Given the description of an element on the screen output the (x, y) to click on. 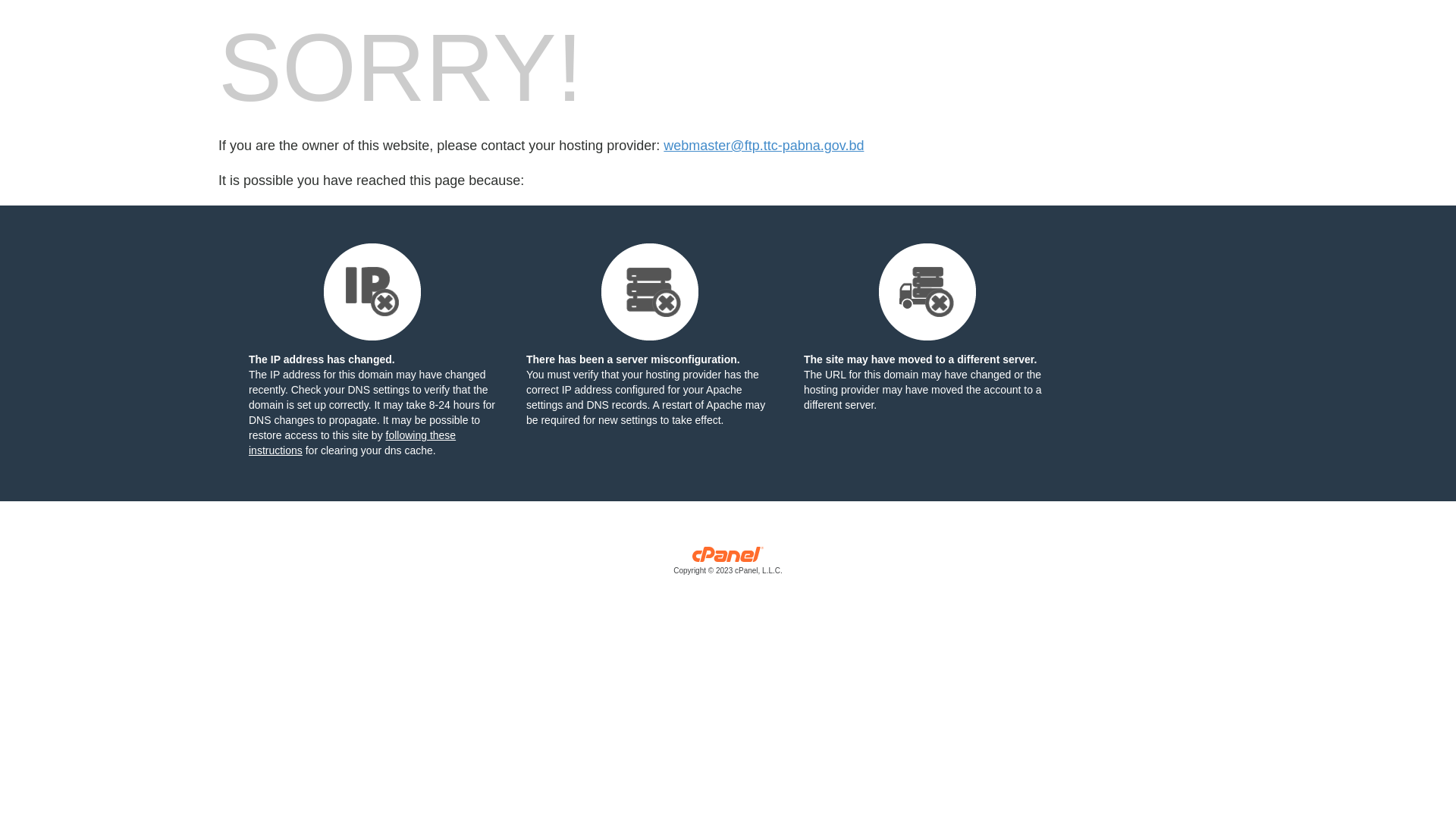
webmaster@ftp.ttc-pabna.gov.bd Element type: text (763, 145)
following these instructions Element type: text (351, 442)
